Given the description of an element on the screen output the (x, y) to click on. 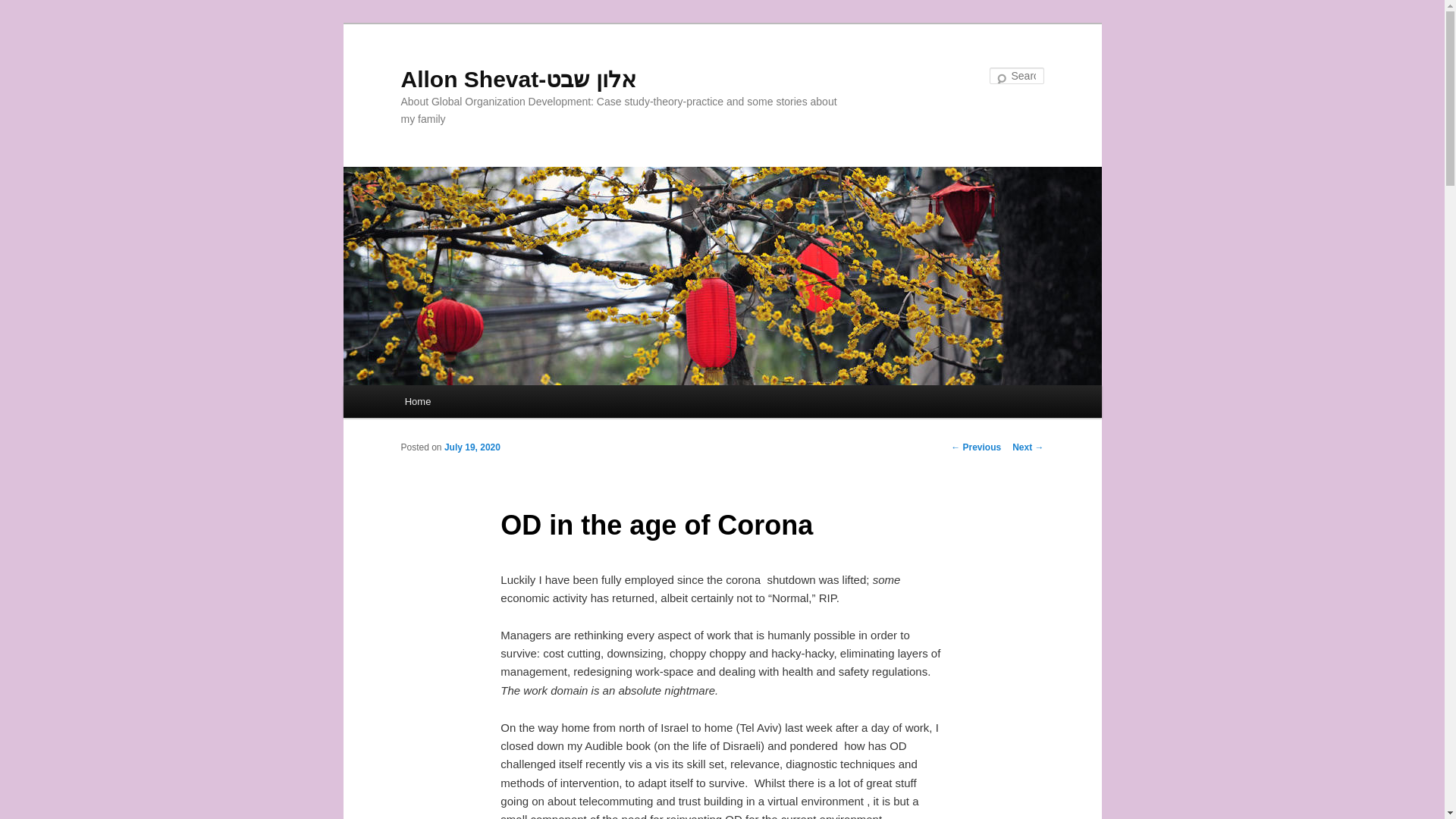
Search (24, 8)
07:11 (472, 447)
July 19, 2020 (472, 447)
Home (417, 400)
